Given the description of an element on the screen output the (x, y) to click on. 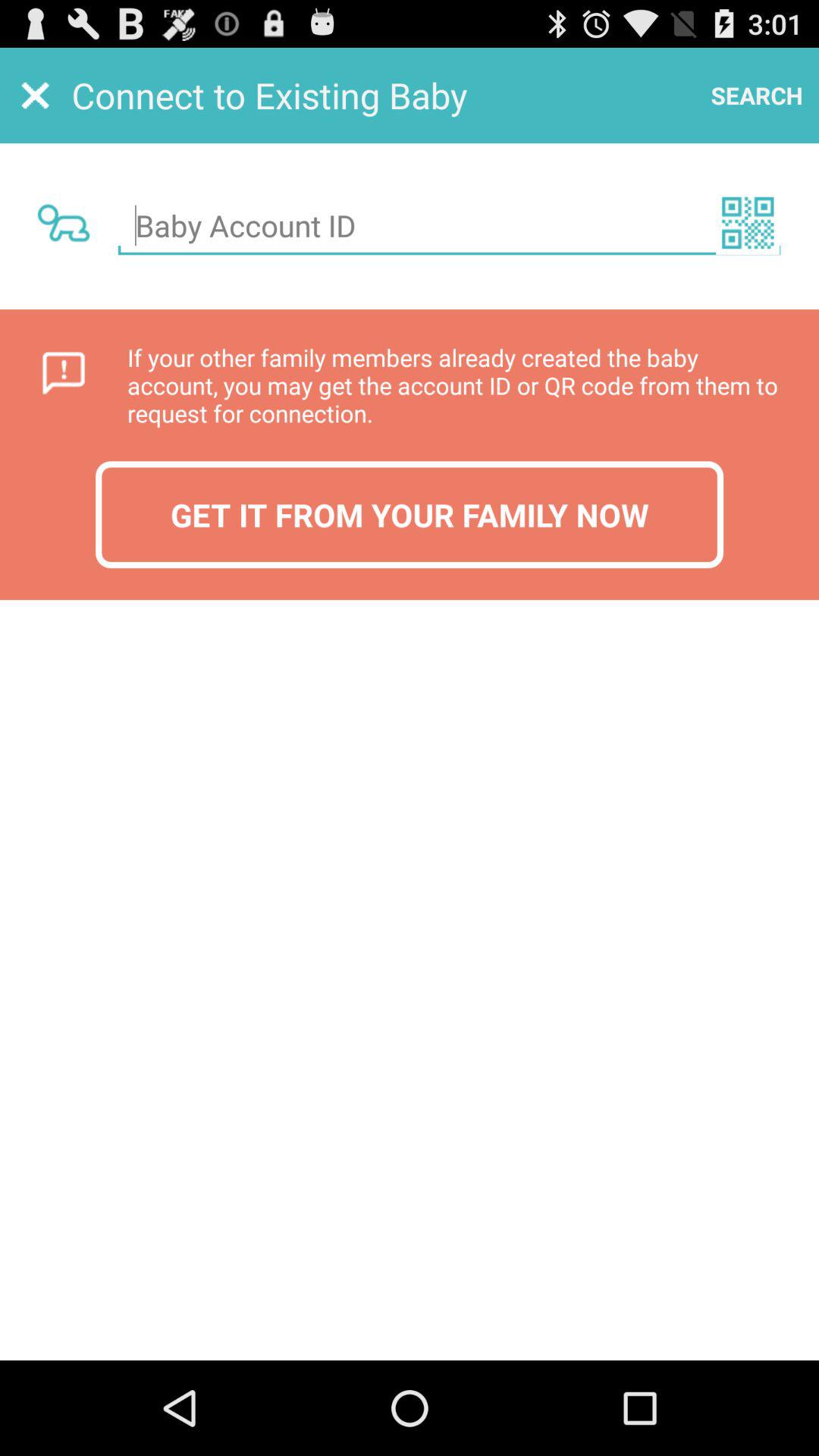
choose the icon below search (747, 222)
